Given the description of an element on the screen output the (x, y) to click on. 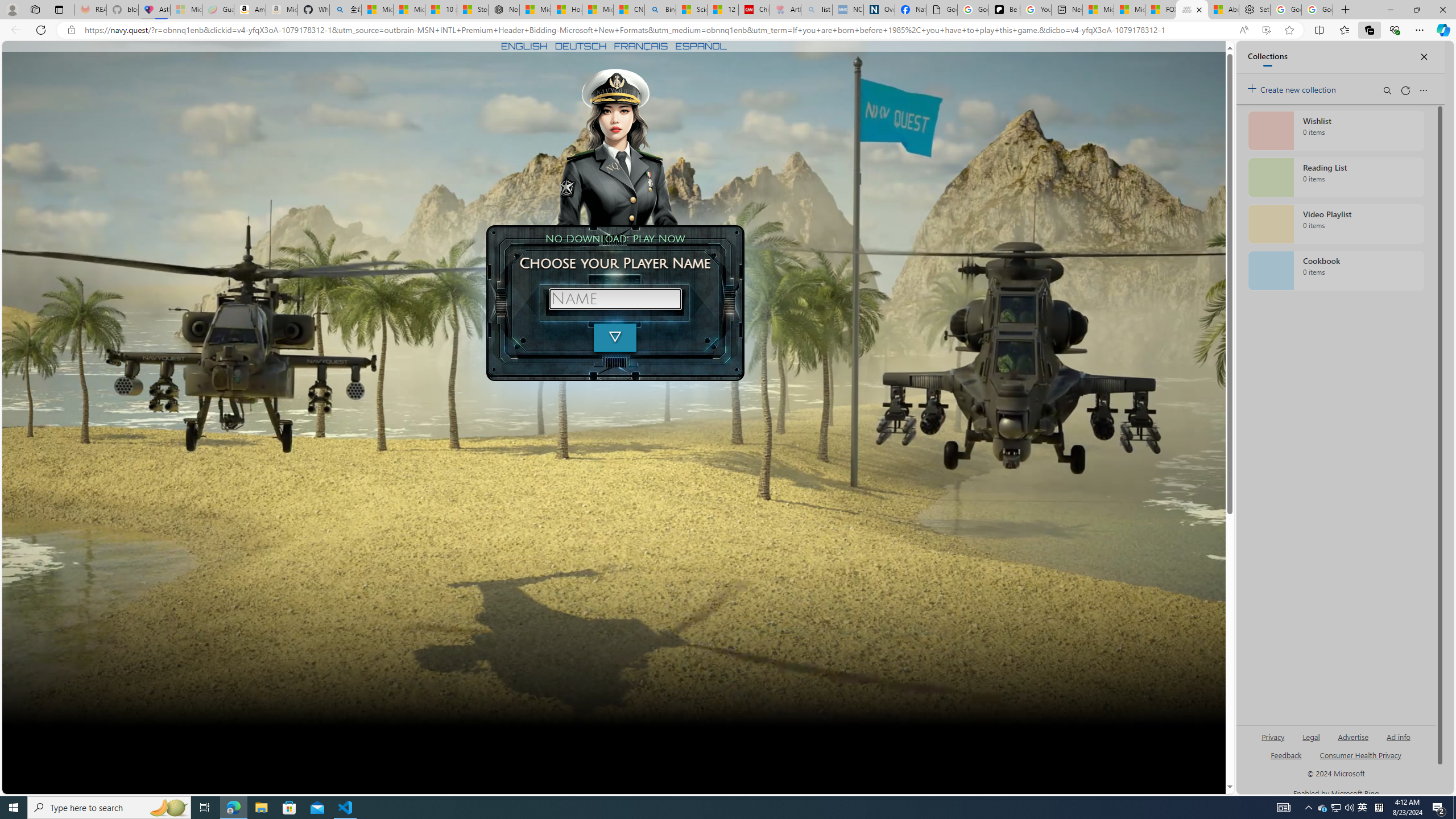
CNN - MSN (628, 9)
Settings (1254, 9)
To get missing image descriptions, open the context menu. (615, 145)
Copilot (Ctrl+Shift+.) (1442, 29)
Microsoft Start (1129, 9)
Navy Quest (1192, 9)
Restore (1416, 9)
Microsoft-Report a Concern to Bing - Sleeping (185, 9)
Add this page to favorites (Ctrl+D) (1289, 29)
Bing (660, 9)
Aberdeen, Hong Kong SAR hourly forecast | Microsoft Weather (1222, 9)
Favorites (1344, 29)
